Given the description of an element on the screen output the (x, y) to click on. 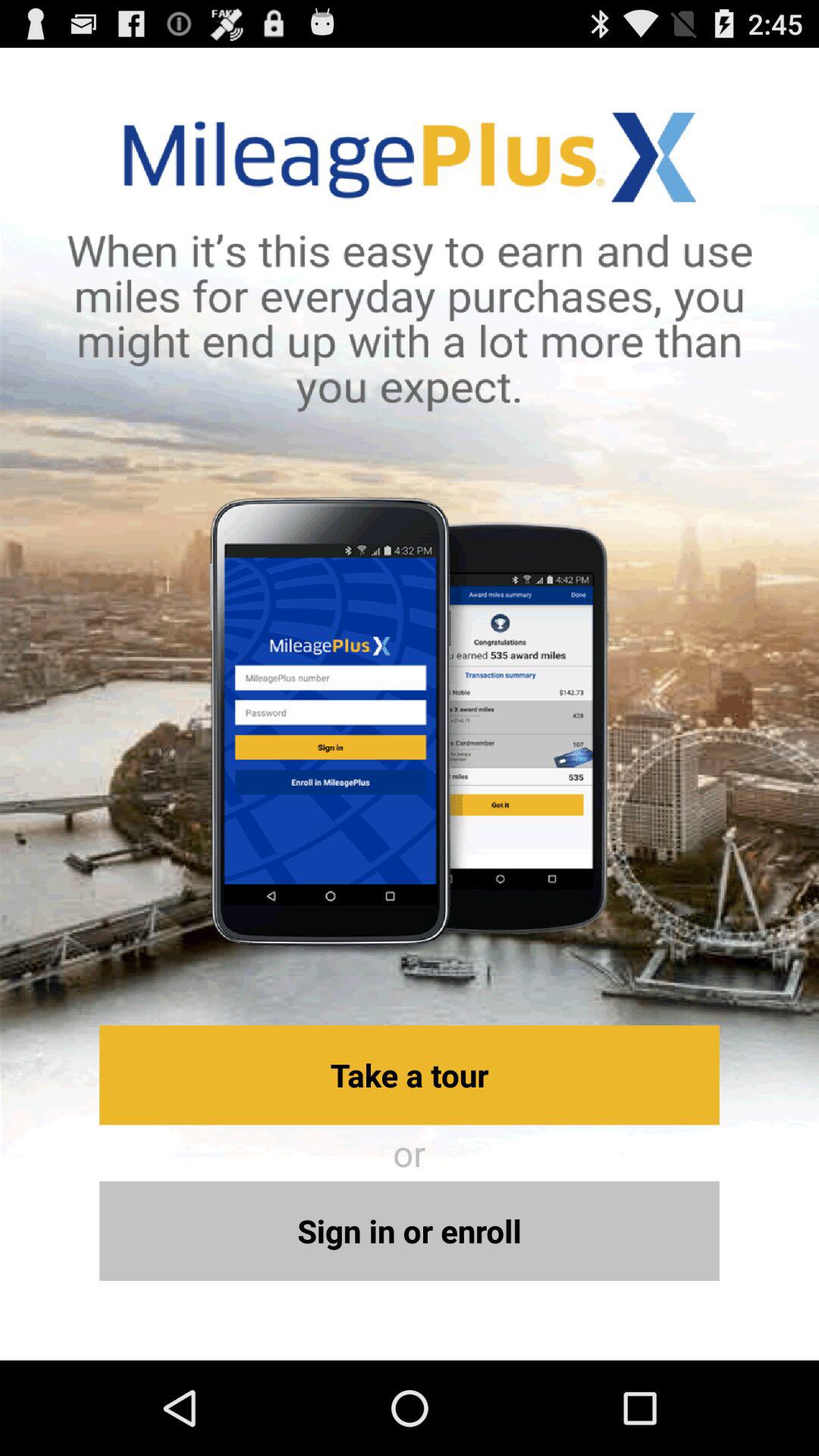
choose the take a tour (409, 1074)
